Given the description of an element on the screen output the (x, y) to click on. 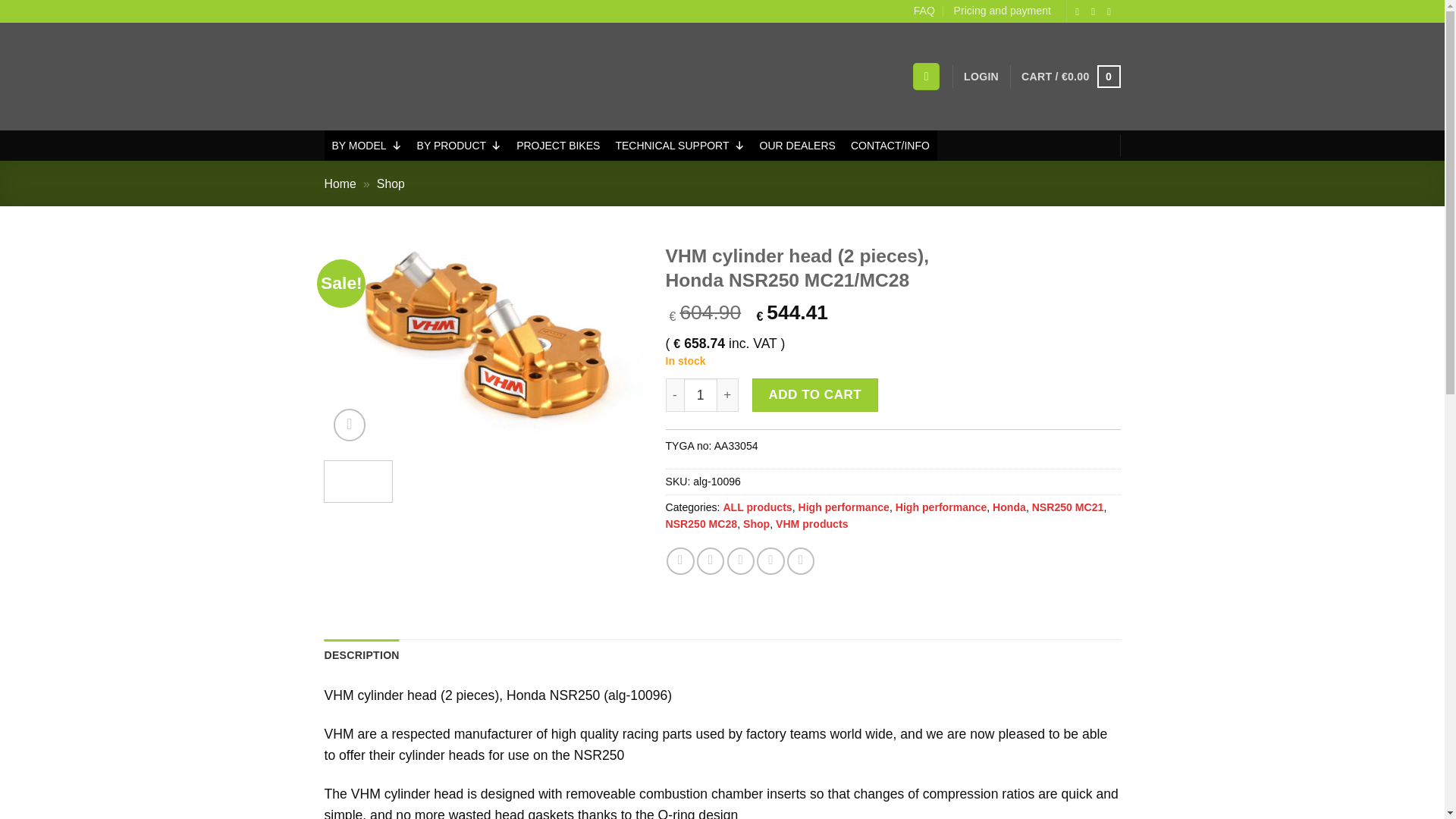
Share on Facebook (680, 560)
LOGIN (980, 76)
FAQ (924, 10)
Zoom (349, 424)
1 (700, 394)
Pricing and payment (1002, 10)
BY MODEL (366, 145)
Login (980, 76)
Cart (1070, 76)
